Given the description of an element on the screen output the (x, y) to click on. 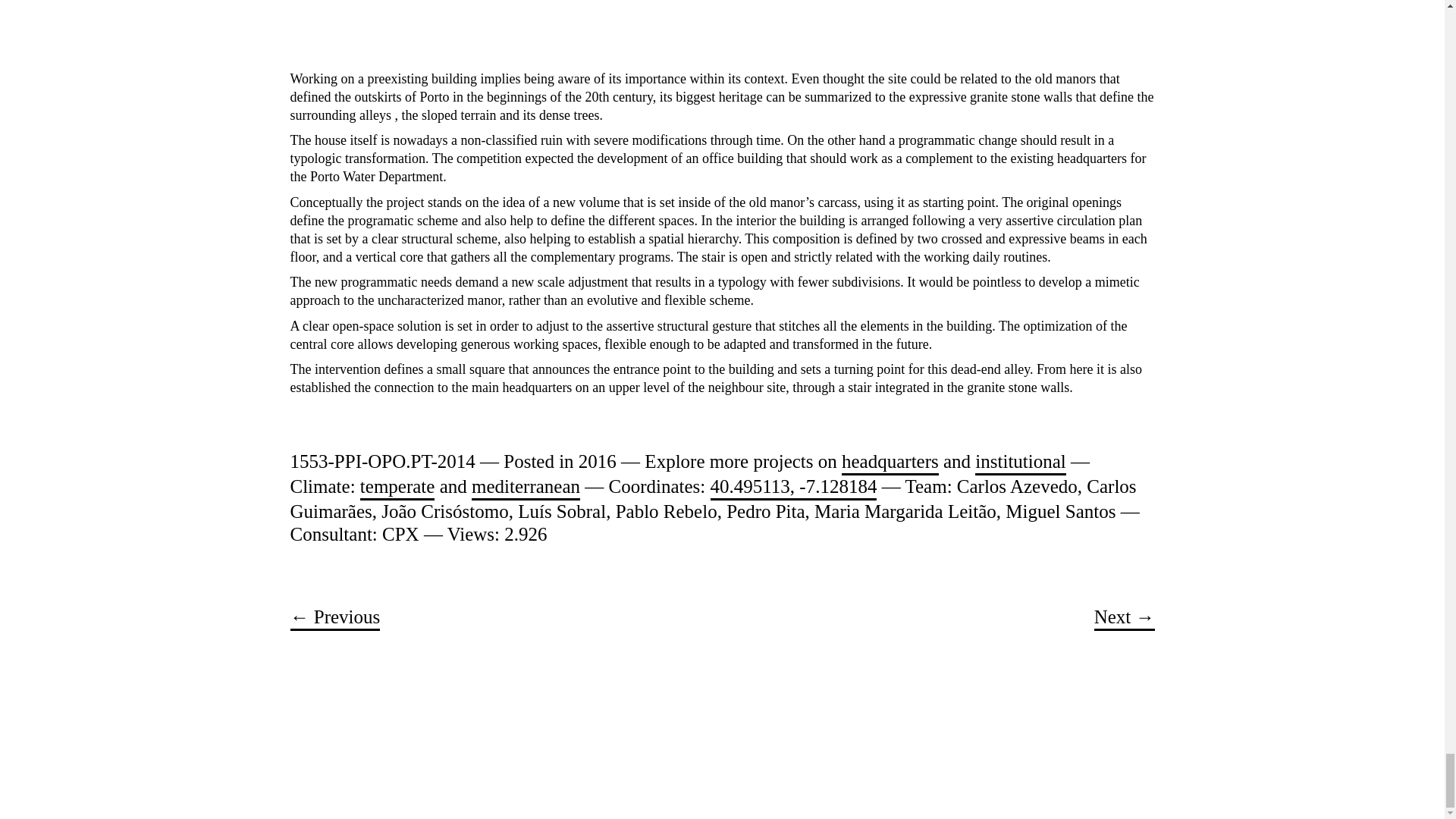
40.495113, -7.128184 (793, 487)
institutional (1020, 462)
Institutional (1020, 462)
40.495113, -7.128184 (793, 487)
headquarters (890, 462)
temperate (397, 487)
temperate (397, 487)
mediterranean (525, 487)
mediterranean (525, 487)
Headquarters (890, 462)
